Given the description of an element on the screen output the (x, y) to click on. 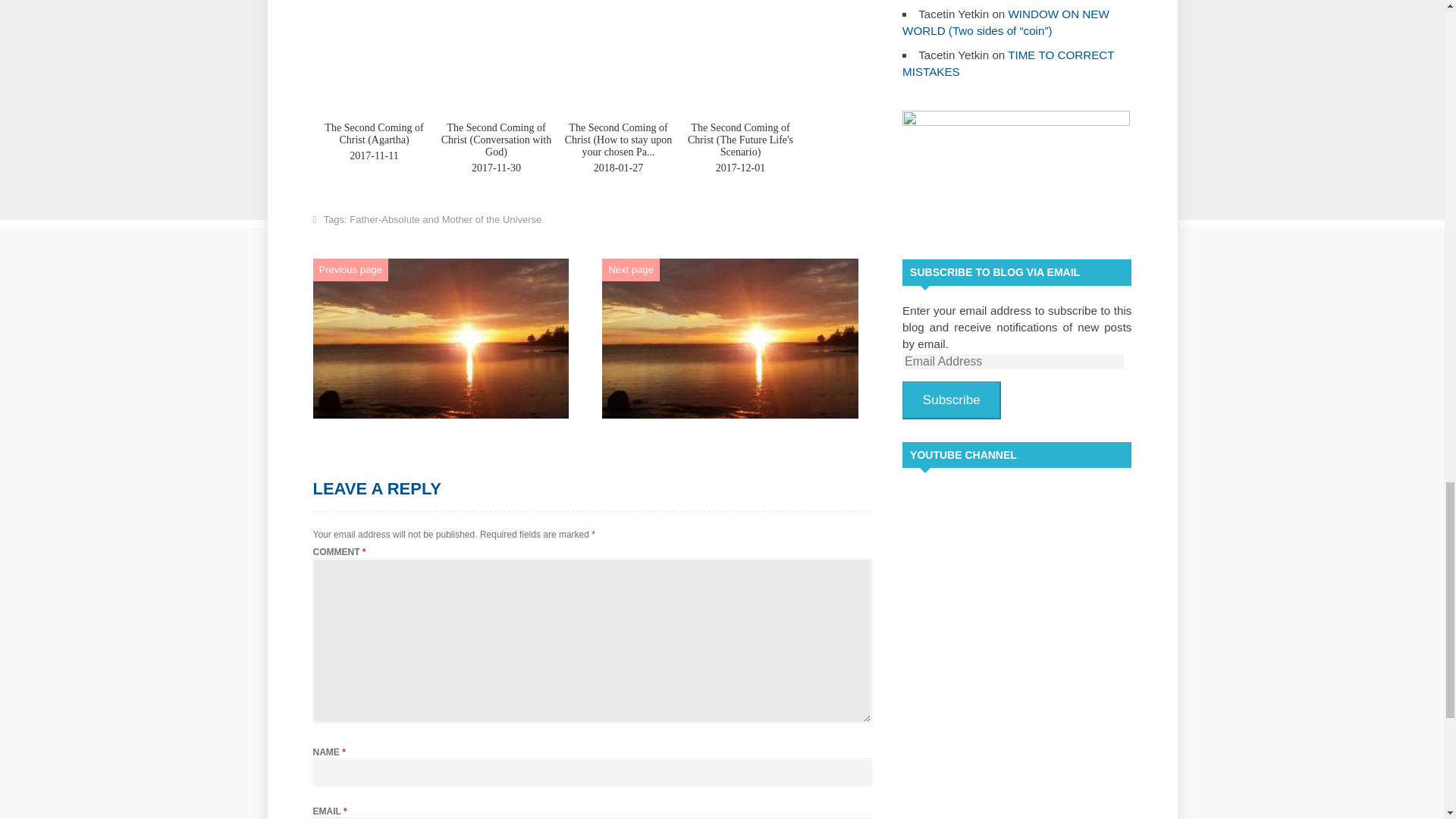
Previous page (349, 269)
Next page (630, 269)
Father-Absolute and Mother of the Universe (445, 219)
